Given the description of an element on the screen output the (x, y) to click on. 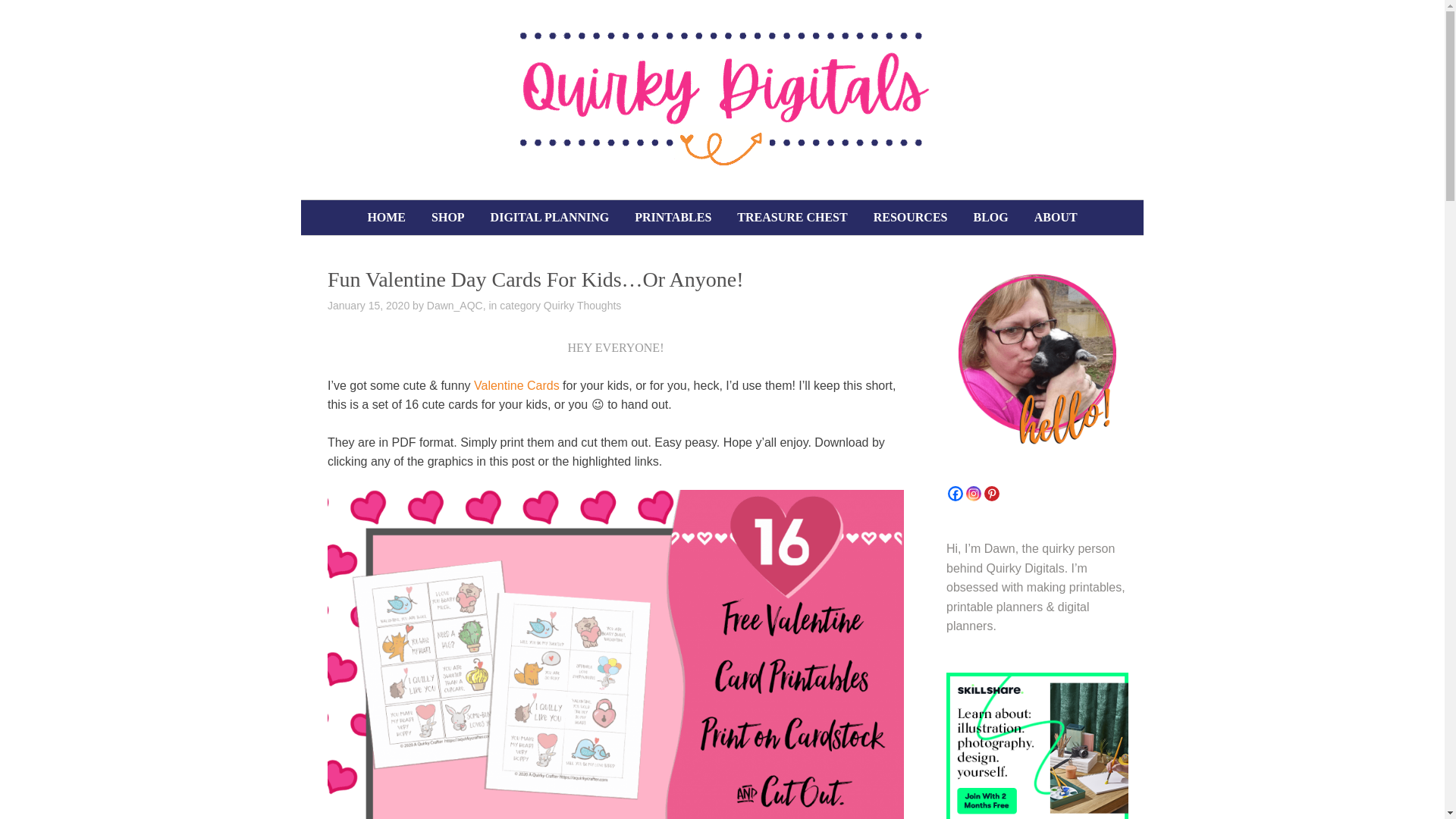
Pinterest (991, 493)
ABOUT (1056, 217)
PRINTABLES (672, 217)
RESOURCES (910, 217)
Instagram (973, 493)
SKIP TO CONTENT (337, 210)
Facebook (954, 493)
HOME (385, 217)
DIGITAL PLANNING (550, 217)
January 15, 2020 (368, 305)
